Given the description of an element on the screen output the (x, y) to click on. 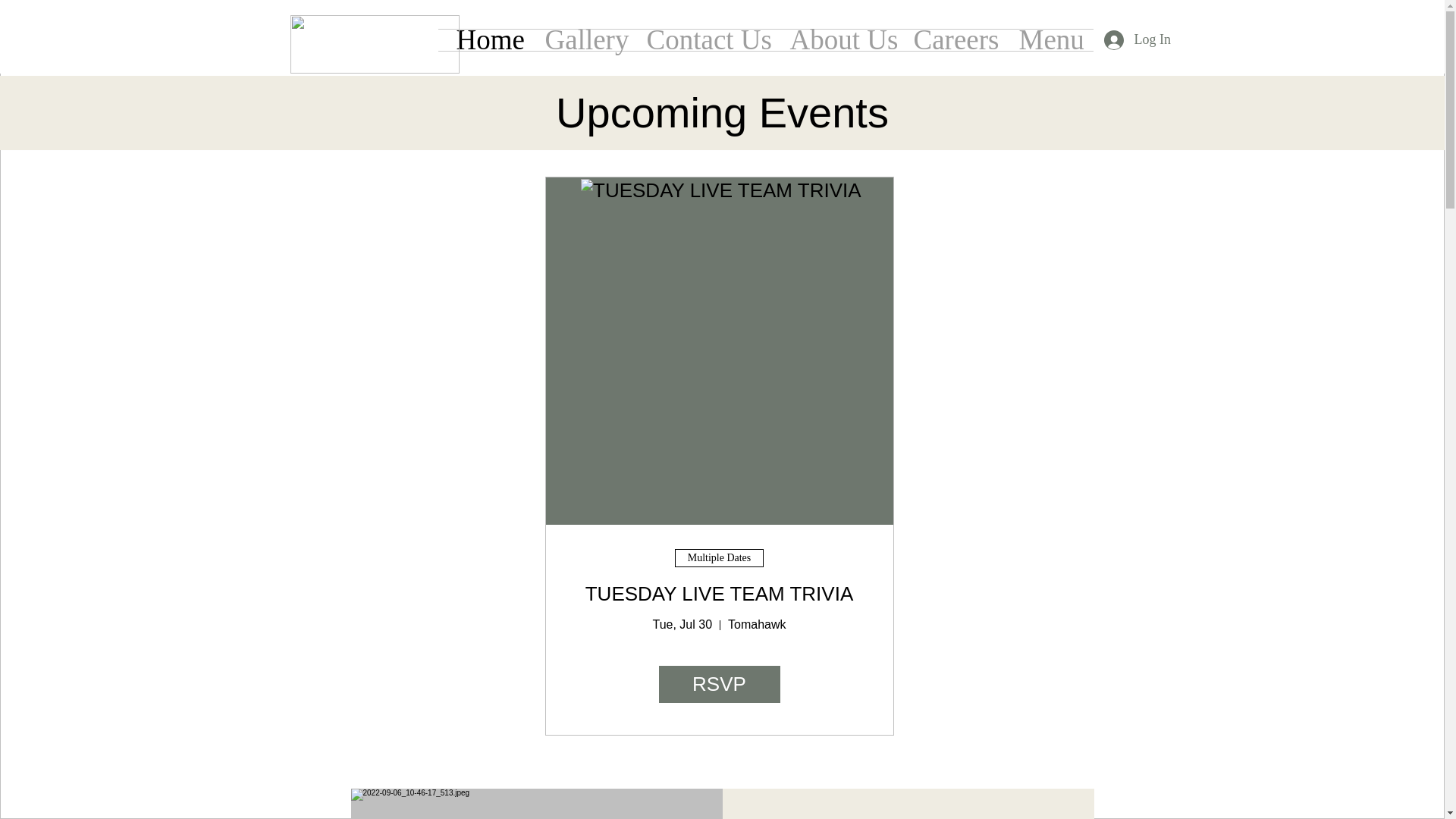
About Us (839, 39)
Gallery (584, 39)
Contact Us (706, 39)
TUESDAY LIVE TEAM TRIVIA (719, 593)
Menu (1050, 39)
Home (488, 39)
Careers (954, 39)
RSVP (718, 683)
Sideways Logo w llc.jpg (373, 44)
Log In (1132, 39)
